Given the description of an element on the screen output the (x, y) to click on. 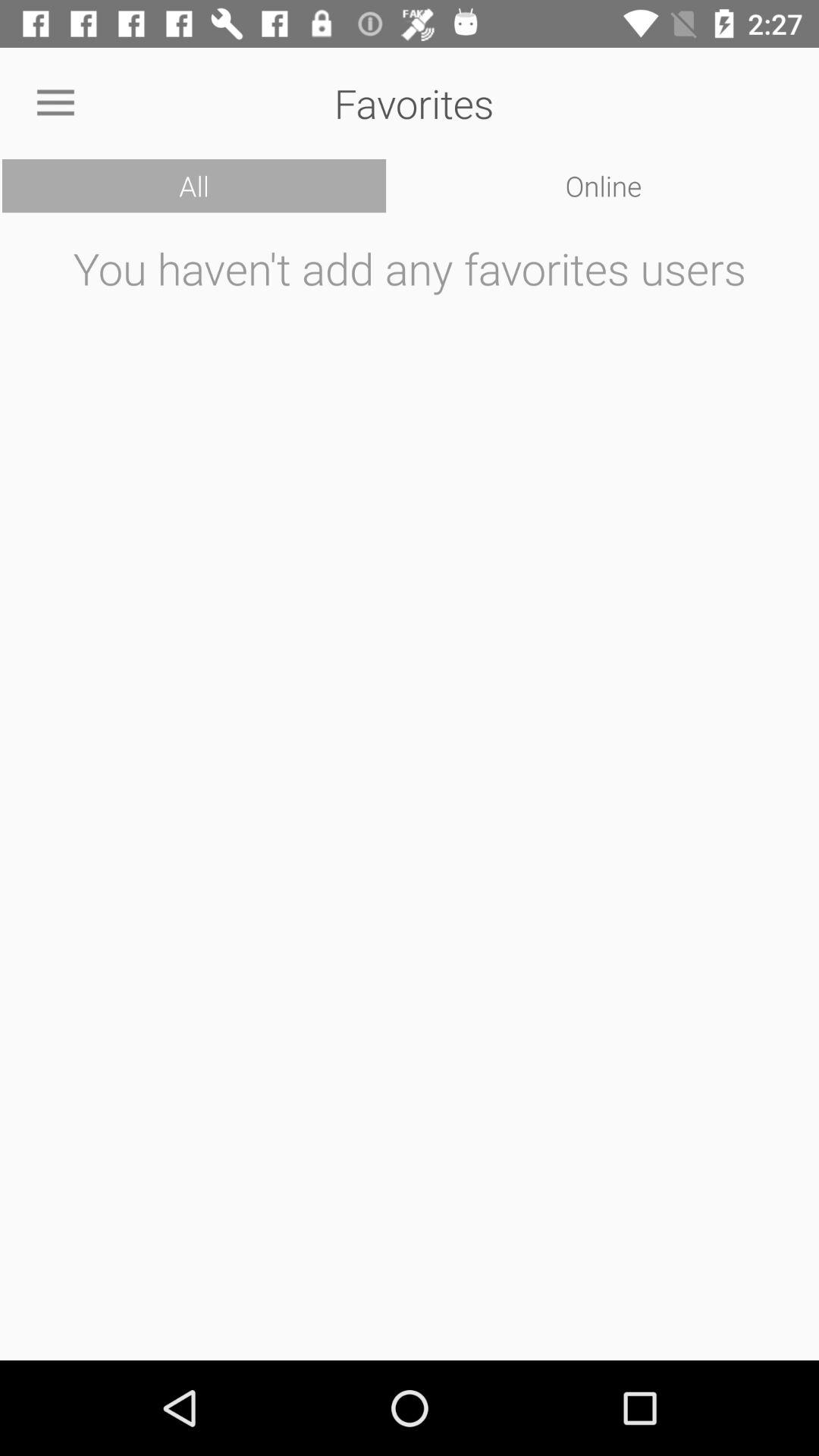
open the icon to the right of all icon (603, 185)
